Given the description of an element on the screen output the (x, y) to click on. 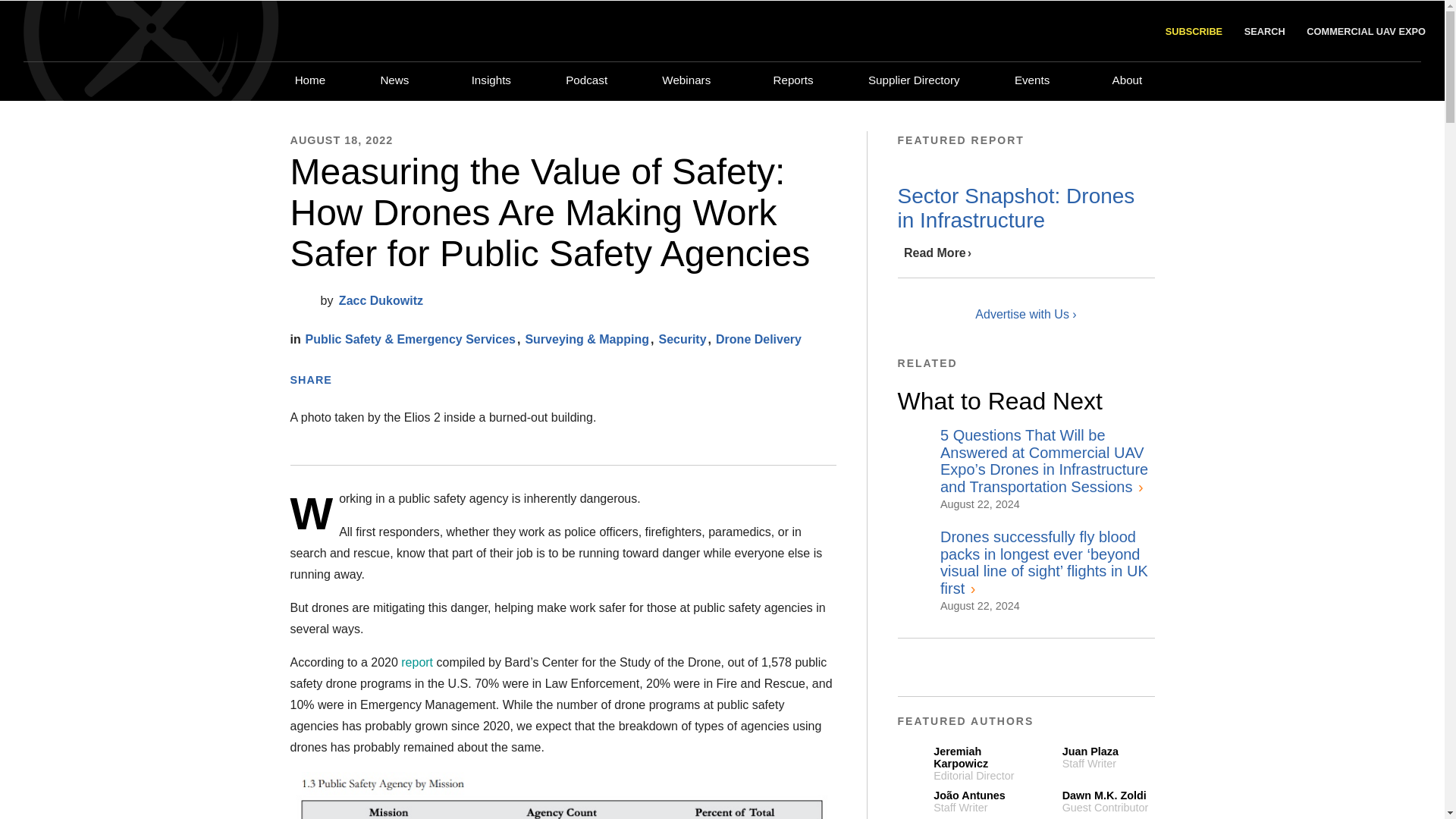
 COMMERCIAL UAV EXPO (1364, 30)
Commercial UAV Expo (1364, 30)
 SEARCH (1263, 30)
Subscribe (1192, 31)
Home (309, 79)
News (394, 79)
